Given the description of an element on the screen output the (x, y) to click on. 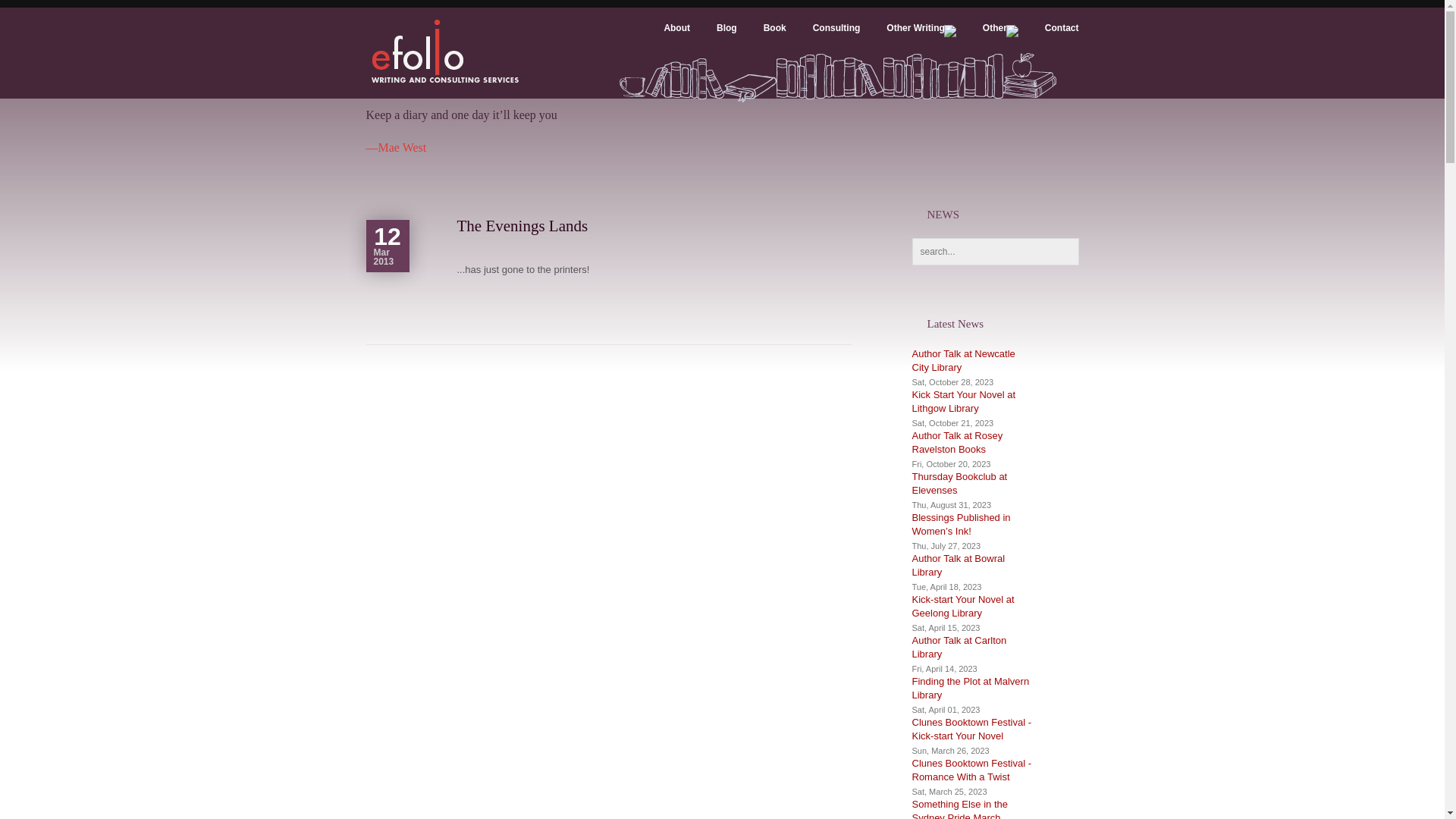
Other Element type: text (987, 38)
Author Talk at Bowral Library Element type: text (957, 564)
Clunes Booktown Festival - Kick-start Your Novel Element type: text (971, 728)
Thursday Bookclub at Elevenses Element type: text (959, 482)
Blog Element type: text (713, 38)
Contact Element type: text (1048, 38)
Kick-start Your Novel at Geelong Library Element type: text (962, 605)
Finding the Plot at Malvern Library Element type: text (970, 687)
Consulting Element type: text (823, 38)
search... Element type: text (994, 251)
Other Writing Element type: text (907, 38)
Author Talk at Newcatle City Library Element type: text (962, 360)
Clunes Booktown Festival - Romance With a Twist Element type: text (971, 769)
About Element type: text (663, 38)
Kick Start Your Novel at Lithgow Library Element type: text (963, 401)
Book Element type: text (761, 38)
The Evenings Lands Element type: text (521, 225)
Author Talk at Carlton Library Element type: text (958, 646)
Author Talk at Rosey Ravelston Books Element type: text (956, 442)
